Given the description of an element on the screen output the (x, y) to click on. 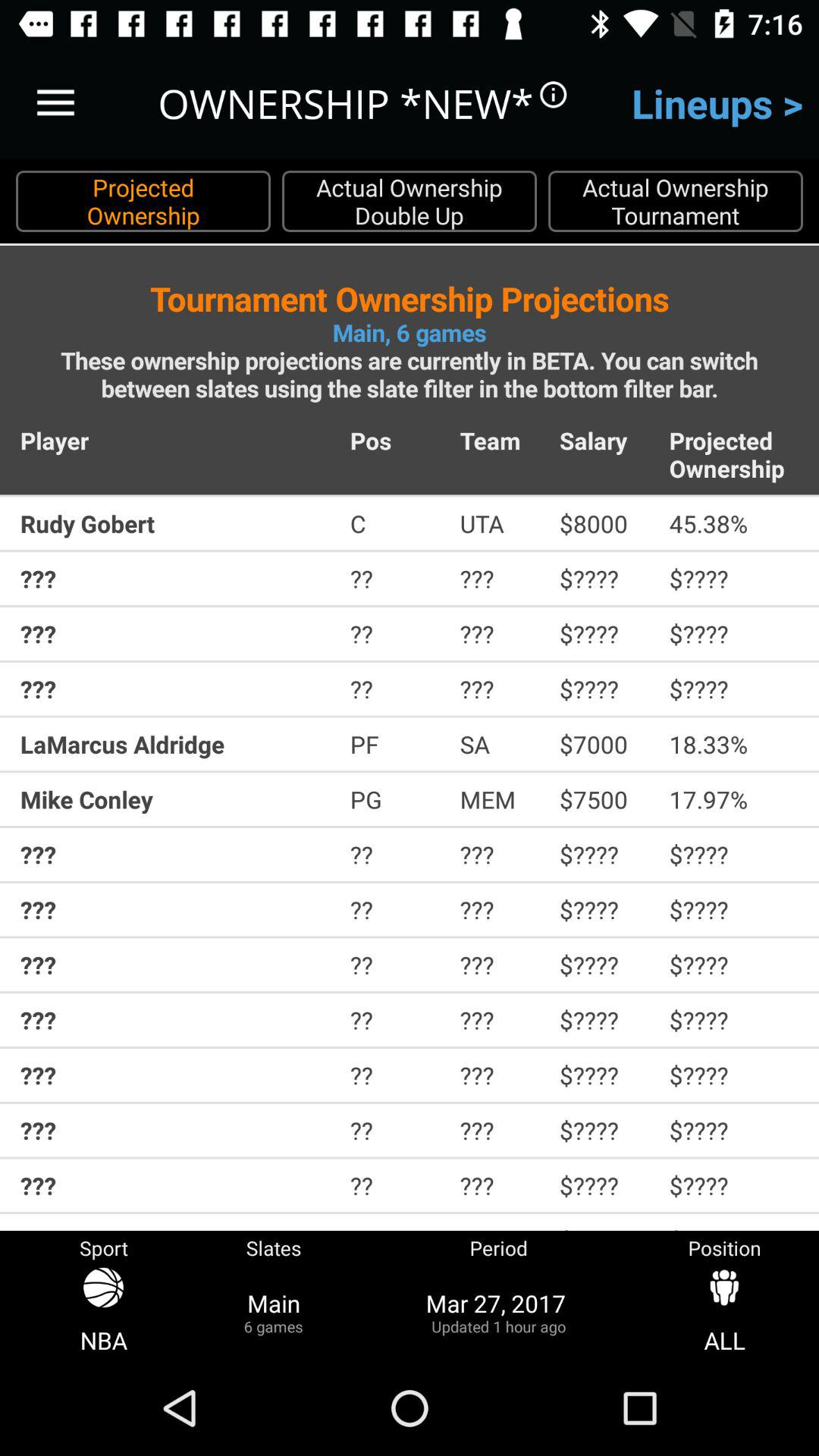
jump until the $7500 icon (604, 799)
